Given the description of an element on the screen output the (x, y) to click on. 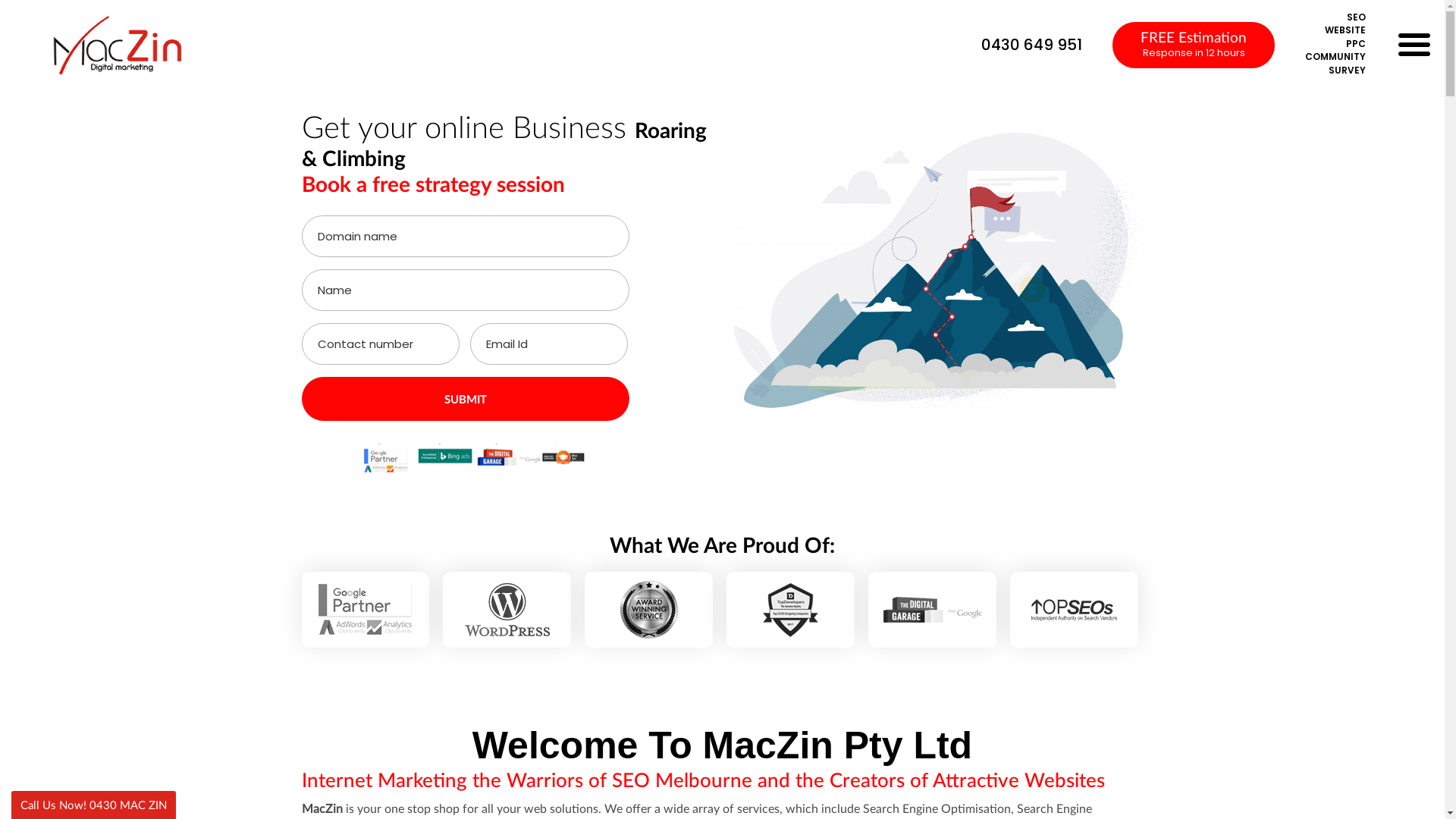
0430 649 951 Element type: text (1024, 44)
FREE Estimation
Response in 12 hours Element type: text (1193, 44)
Digital Garage Element type: hover (932, 609)
COMMUNITY Element type: text (1335, 56)
WEBSITE Element type: text (1335, 30)
Award Wining Services Element type: hover (648, 609)
PPC Element type: text (1335, 43)
Maczin Menu Element type: hover (1414, 43)
Top Devloperse Element type: hover (790, 610)
Top SEO Element type: hover (1074, 610)
SUBMIT Element type: text (465, 398)
MacZin - SEO Company Melbourne Element type: hover (116, 44)
SURVEY Element type: text (1335, 70)
WordPress Element type: hover (506, 609)
SEO Element type: text (1335, 17)
Google Partner Element type: hover (364, 609)
